Given the description of an element on the screen output the (x, y) to click on. 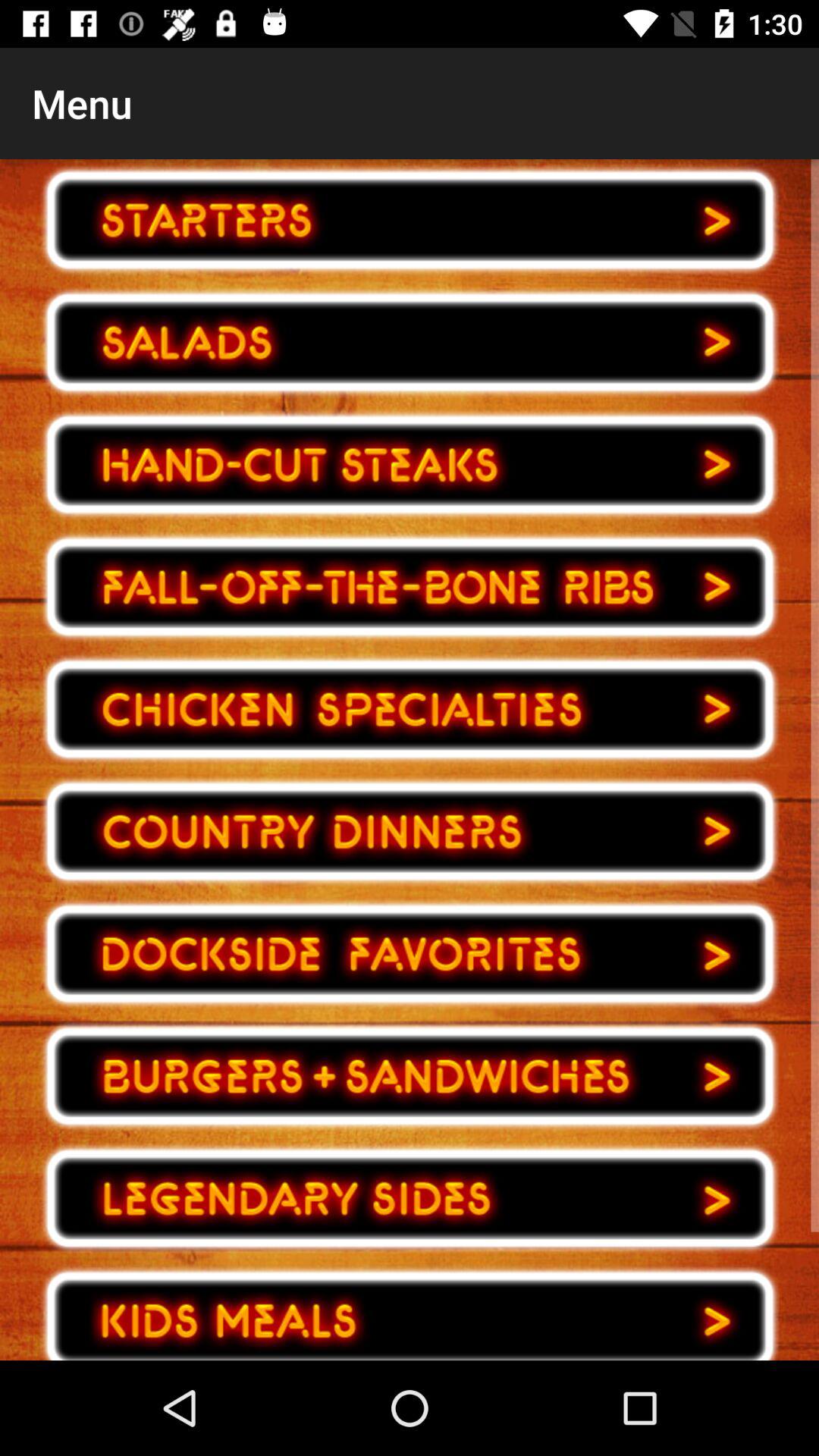
click to view dockside favourites (409, 953)
